Given the description of an element on the screen output the (x, y) to click on. 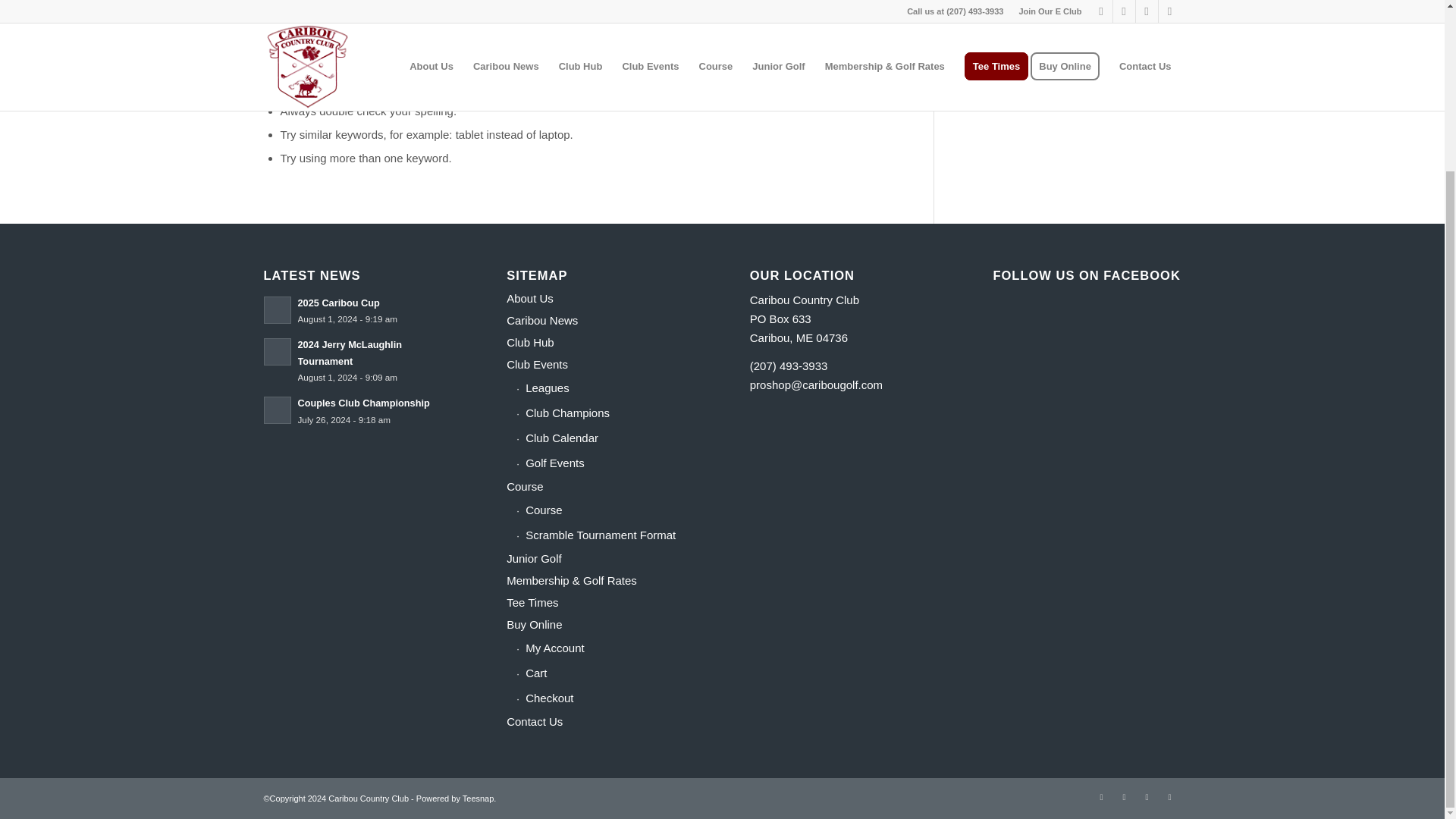
Read: Couples Club Championship (363, 402)
Instagram (1146, 796)
Caribou News (600, 321)
Read: Couples Club Championship (277, 410)
X (1101, 796)
Facebook (1124, 796)
Couples Club Championship (363, 402)
Read: 2025 Caribou Cup (337, 302)
Read: 2024 Jerry McLaughlin Tournament (277, 351)
Club Hub (600, 342)
